Given the description of an element on the screen output the (x, y) to click on. 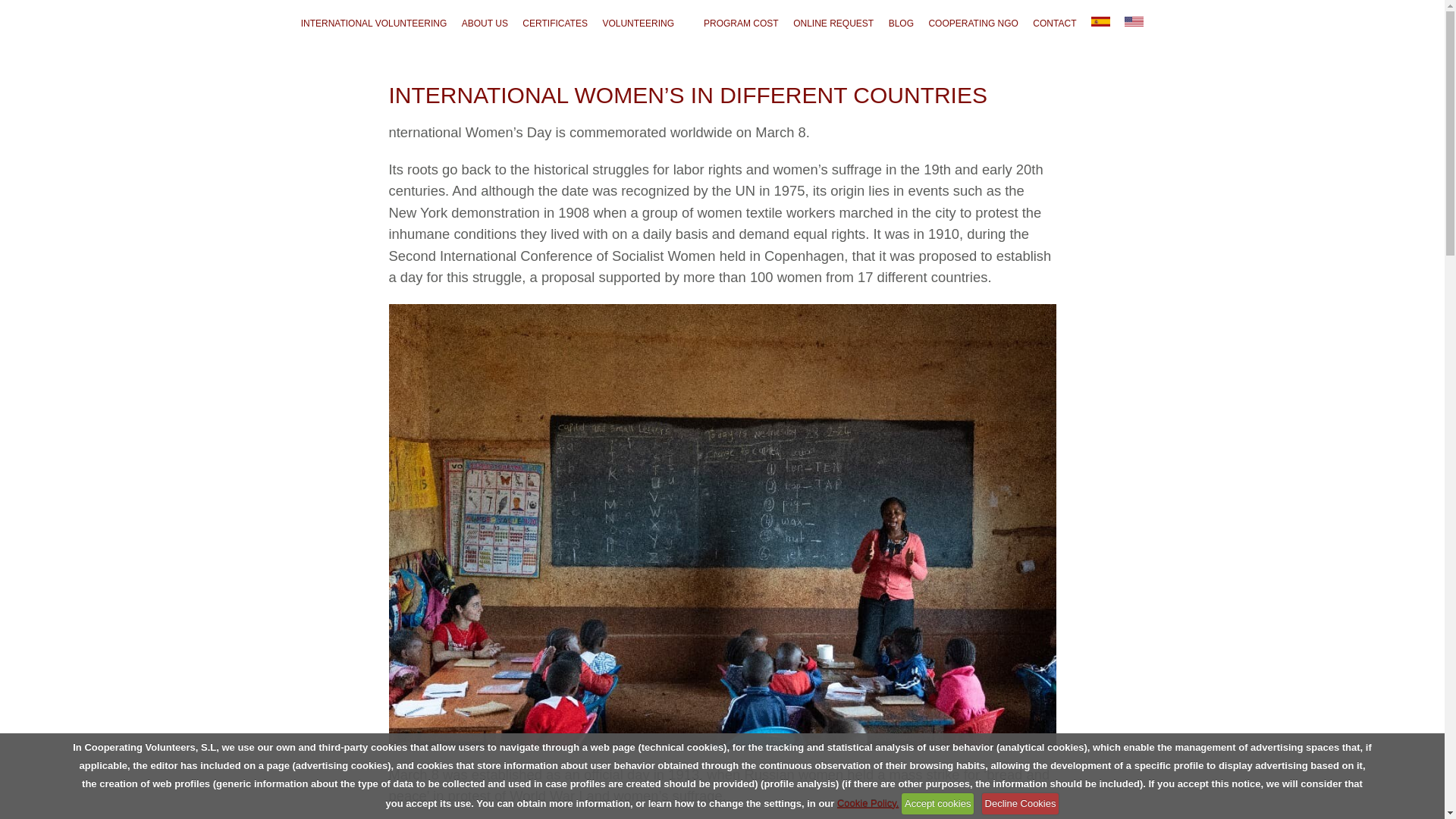
ABOUT US (484, 22)
CERTIFICATES (555, 22)
INTERNATIONAL VOLUNTEERING (373, 22)
Cookie Policy (867, 803)
